Given the description of an element on the screen output the (x, y) to click on. 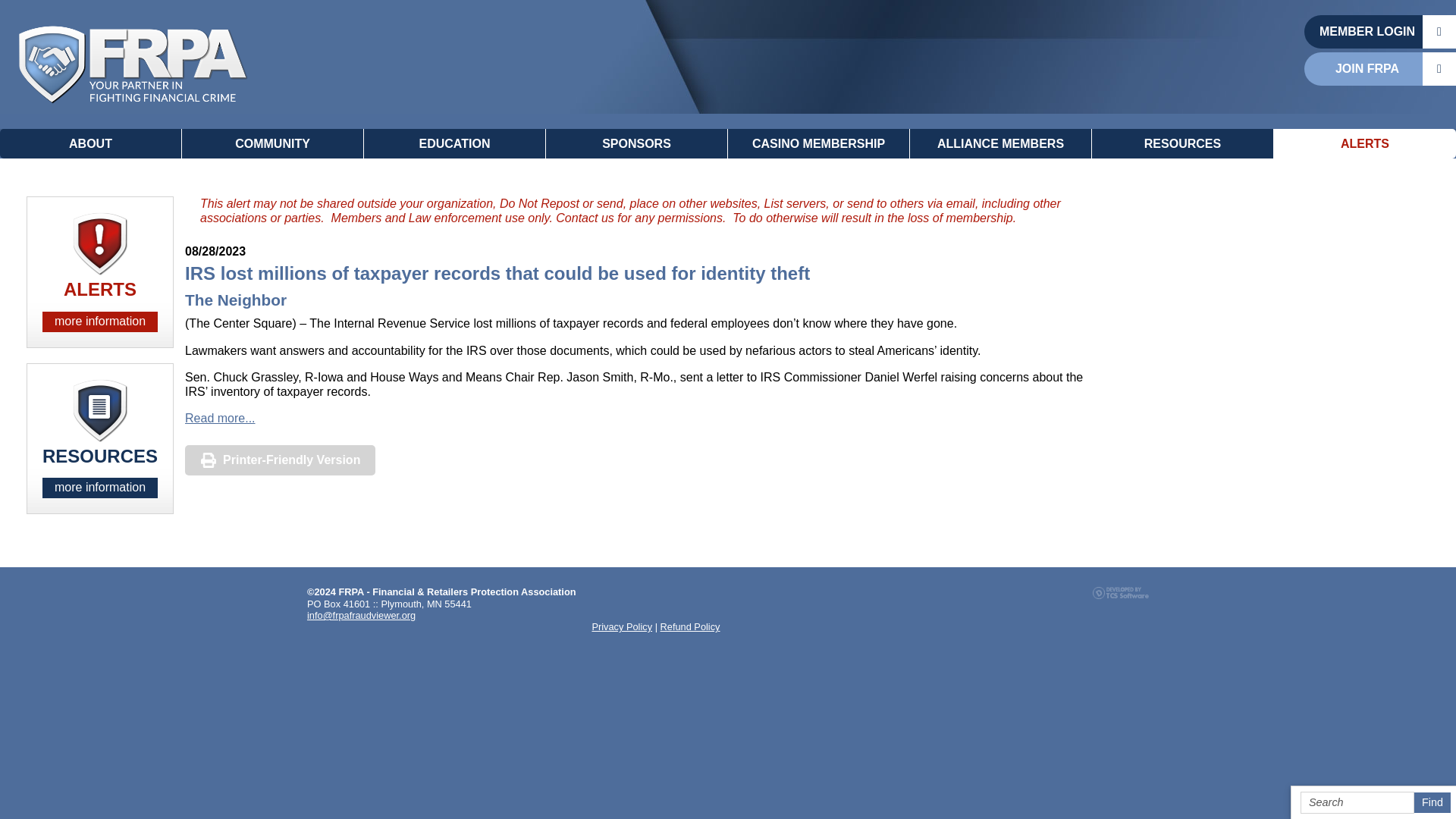
more information (99, 322)
Refund Policy (690, 626)
COMMUNITY (273, 143)
CASINO MEMBERSHIP (819, 143)
Privacy Policy (621, 626)
ABOUT (91, 143)
Read more... (219, 418)
SPONSORS (637, 143)
ALLIANCE MEMBERS (1001, 143)
more information (99, 487)
